Given the description of an element on the screen output the (x, y) to click on. 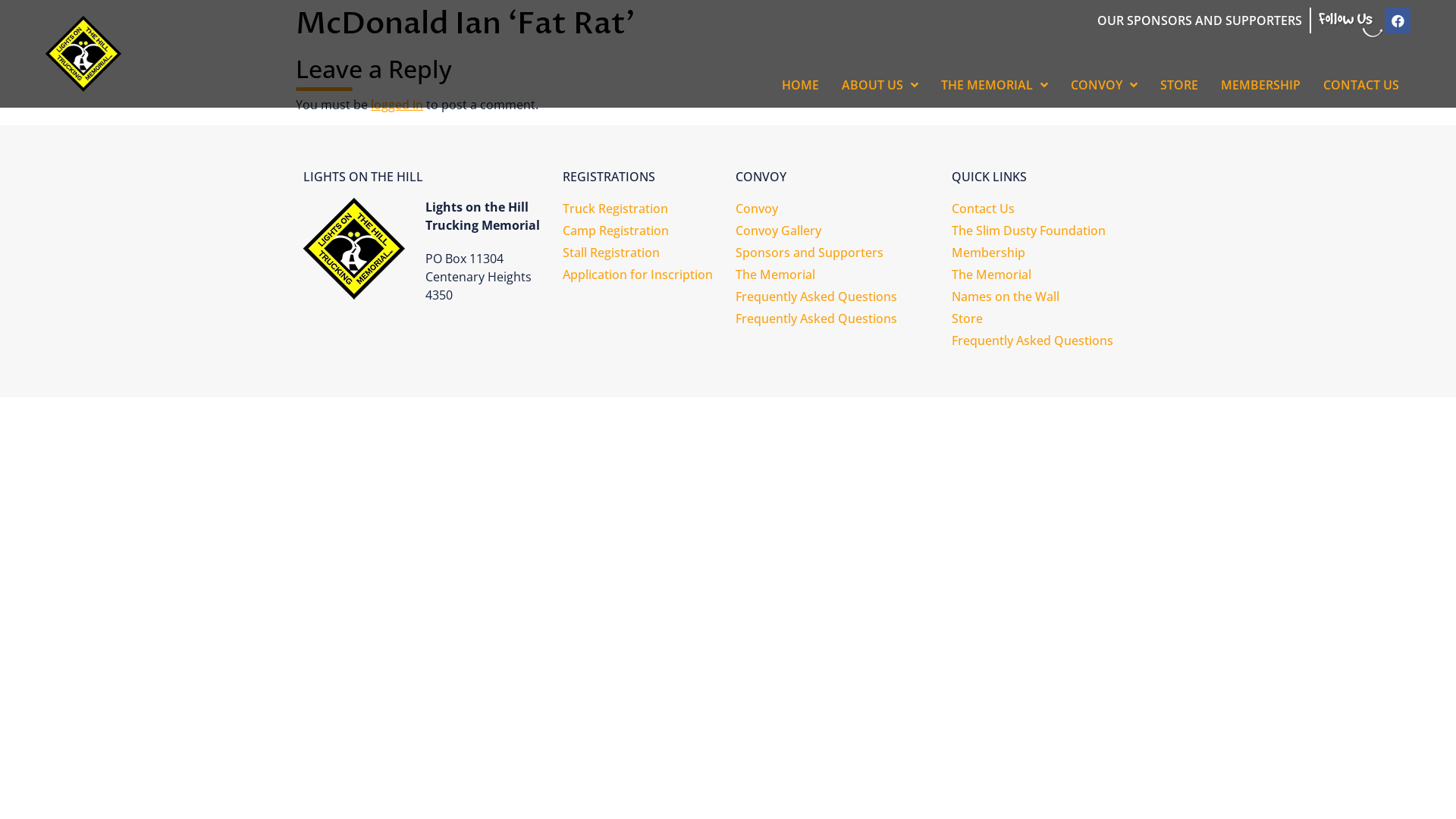
Names on the Wall Element type: text (1051, 296)
MEMBERSHIP Element type: text (1260, 84)
Store Element type: text (1051, 318)
Frequently Asked Questions Element type: text (835, 318)
Membership Element type: text (1051, 252)
ABOUT US Element type: text (879, 84)
Camp Registration Element type: text (641, 230)
OUR SPONSORS AND SUPPORTERS Element type: text (1199, 20)
The Slim Dusty Foundation Element type: text (1051, 230)
Stall Registration Element type: text (641, 252)
logged in Element type: text (396, 104)
CONTACT US Element type: text (1360, 84)
HOME Element type: text (800, 84)
Convoy Gallery Element type: text (835, 230)
Frequently Asked Questions Element type: text (835, 296)
CONVOY Element type: text (1103, 84)
Sponsors and Supporters Element type: text (835, 252)
Application for Inscription Element type: text (641, 274)
Frequently Asked Questions Element type: text (1051, 340)
THE MEMORIAL Element type: text (994, 84)
The Memorial Element type: text (1051, 274)
Convoy Element type: text (835, 208)
The Memorial Element type: text (835, 274)
STORE Element type: text (1178, 84)
Truck Registration Element type: text (641, 208)
Contact Us Element type: text (1051, 208)
